Given the description of an element on the screen output the (x, y) to click on. 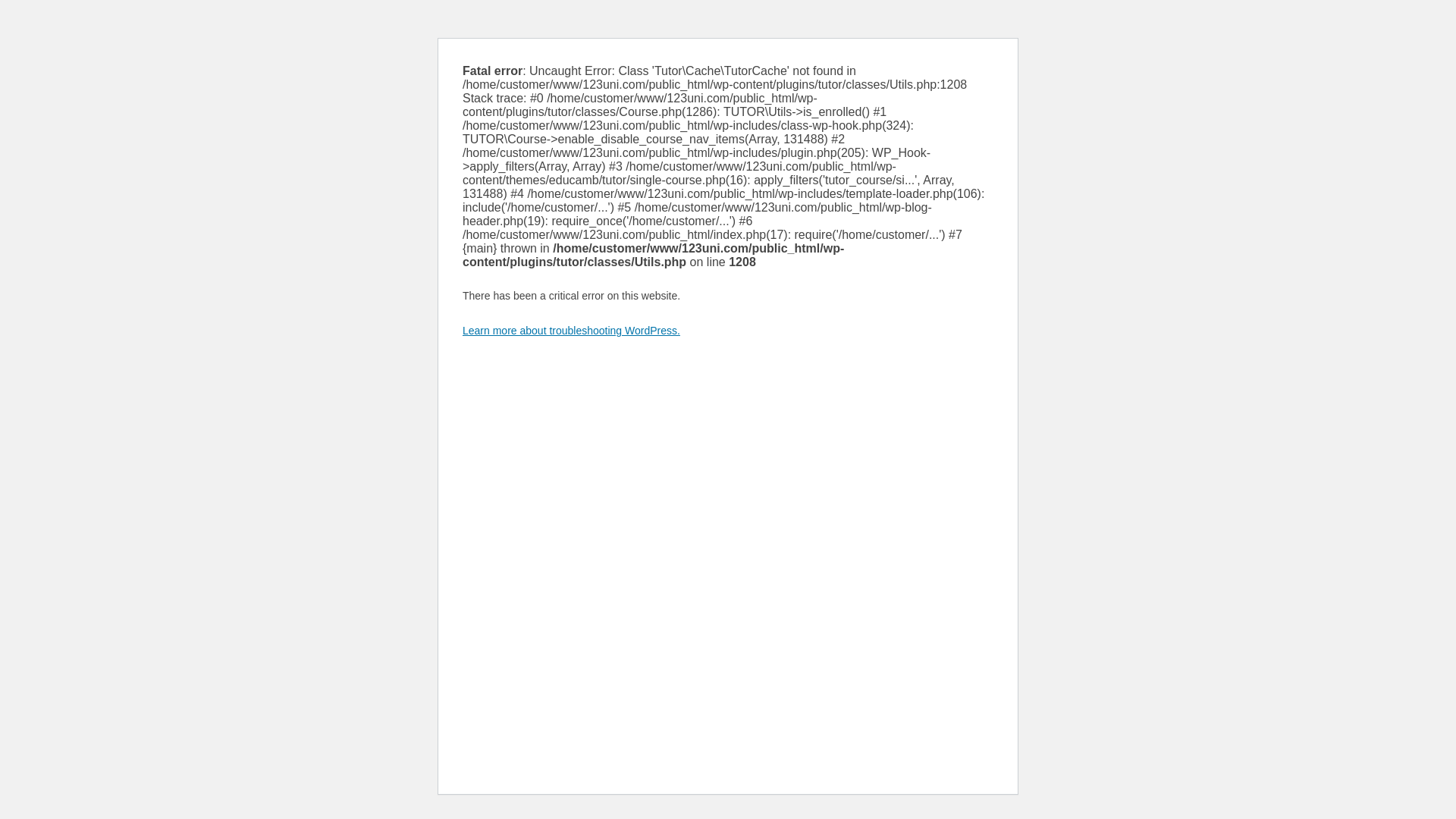
Learn more about troubleshooting WordPress. Element type: text (571, 330)
